Given the description of an element on the screen output the (x, y) to click on. 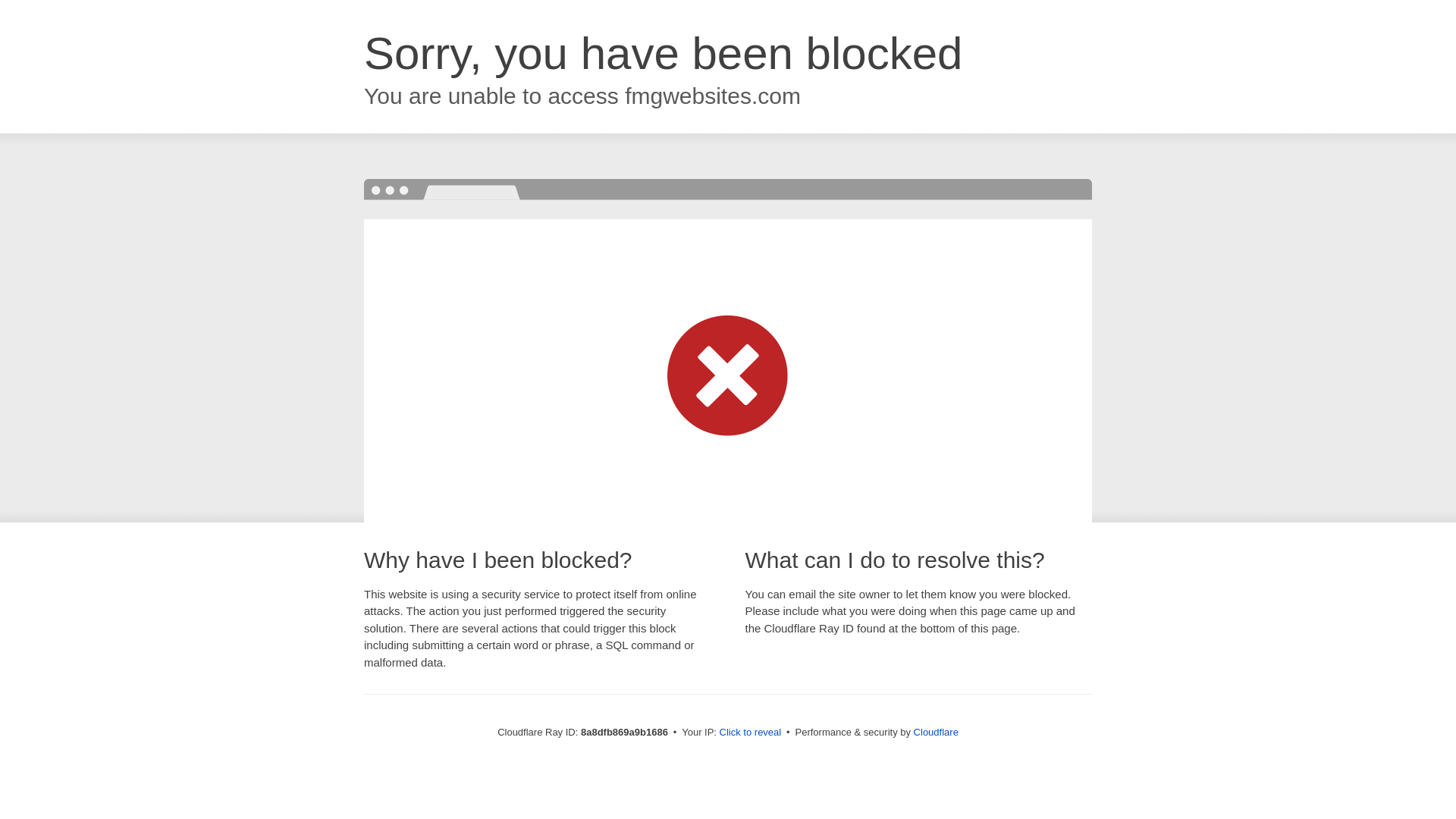
Cloudflare (936, 731)
Click to reveal (750, 732)
